Given the description of an element on the screen output the (x, y) to click on. 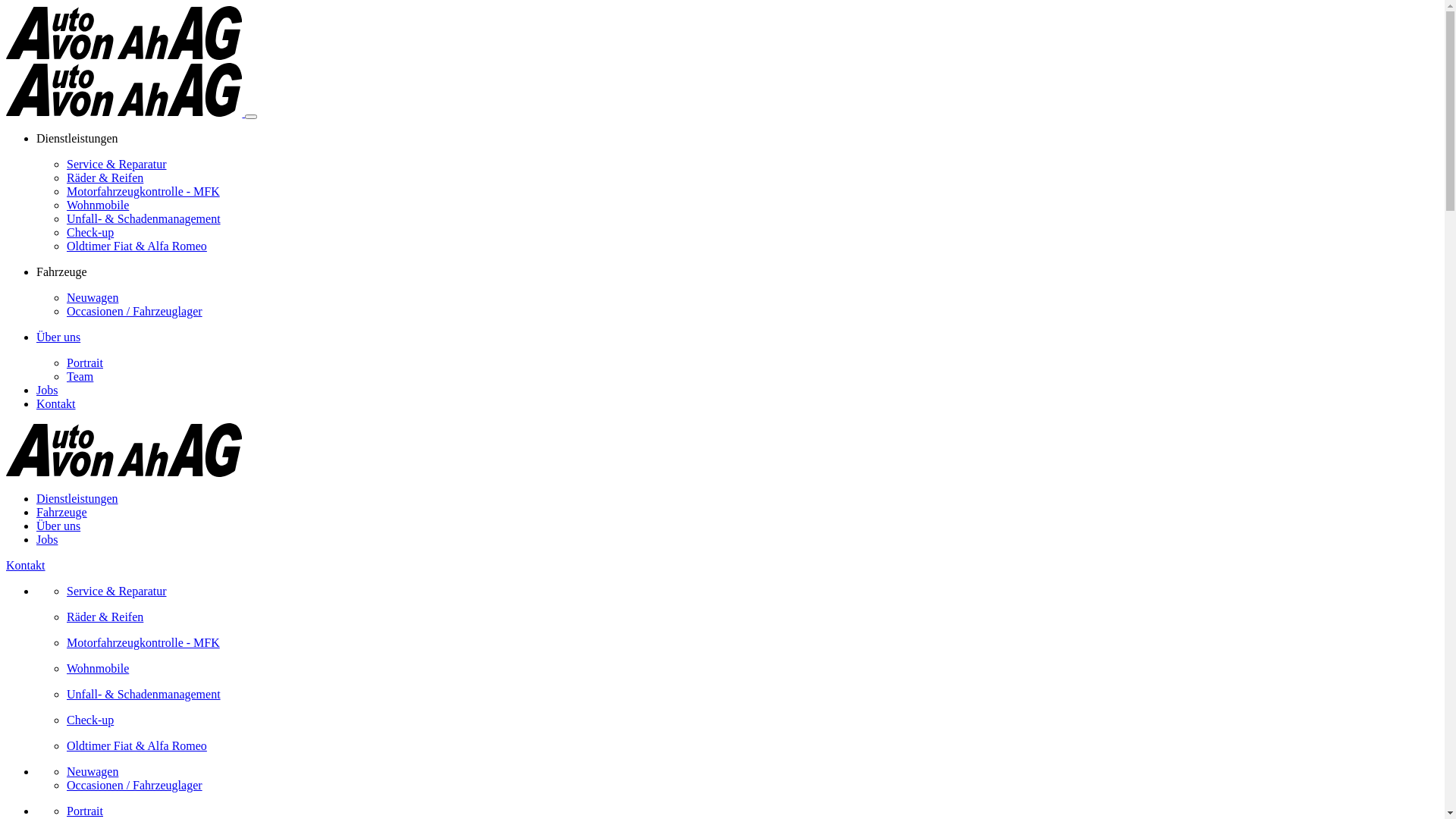
Jobs Element type: text (46, 539)
Motorfahrzeugkontrolle - MFK Element type: text (752, 642)
Motorfahrzeugkontrolle - MFK Element type: text (142, 191)
Portrait Element type: text (84, 362)
Fahrzeuge Element type: text (61, 511)
Oldtimer Fiat & Alfa Romeo Element type: text (752, 746)
Neuwagen Element type: text (92, 771)
Wohnmobile Element type: text (752, 668)
Service & Reparatur Element type: text (116, 163)
Oldtimer Fiat & Alfa Romeo Element type: text (136, 245)
Unfall- & Schadenmanagement Element type: text (752, 694)
Wohnmobile Element type: text (97, 204)
Portrait Element type: text (752, 811)
Kontakt Element type: text (25, 564)
Jobs Element type: text (46, 389)
Team Element type: text (79, 376)
Check-up Element type: text (89, 231)
Unfall- & Schadenmanagement Element type: text (143, 218)
Kontakt Element type: text (55, 403)
Occasionen / Fahrzeuglager Element type: text (134, 784)
Neuwagen Element type: text (92, 297)
Dienstleistungen Element type: text (77, 498)
Occasionen / Fahrzeuglager Element type: text (134, 310)
Service & Reparatur Element type: text (752, 591)
Check-up Element type: text (752, 720)
